Given the description of an element on the screen output the (x, y) to click on. 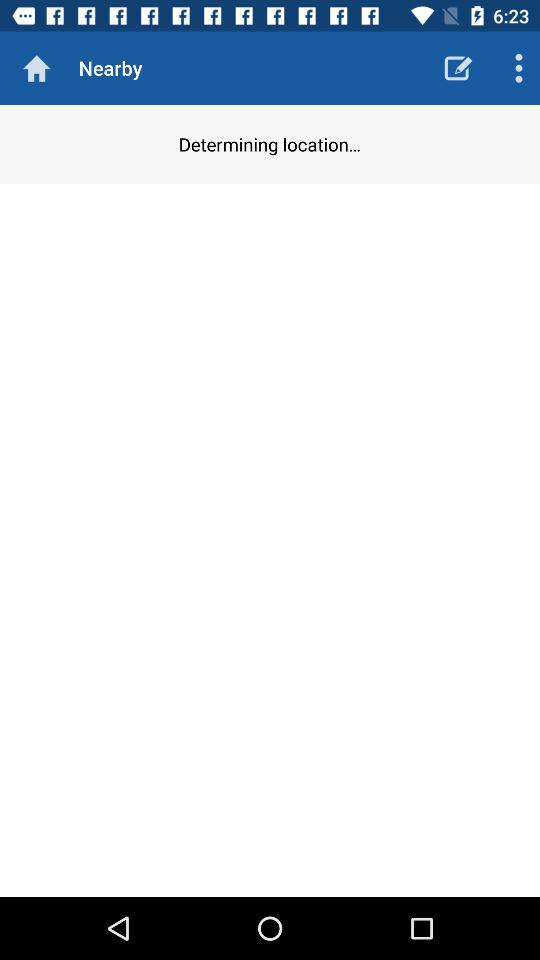
click the item to the right of nearby icon (458, 67)
